Given the description of an element on the screen output the (x, y) to click on. 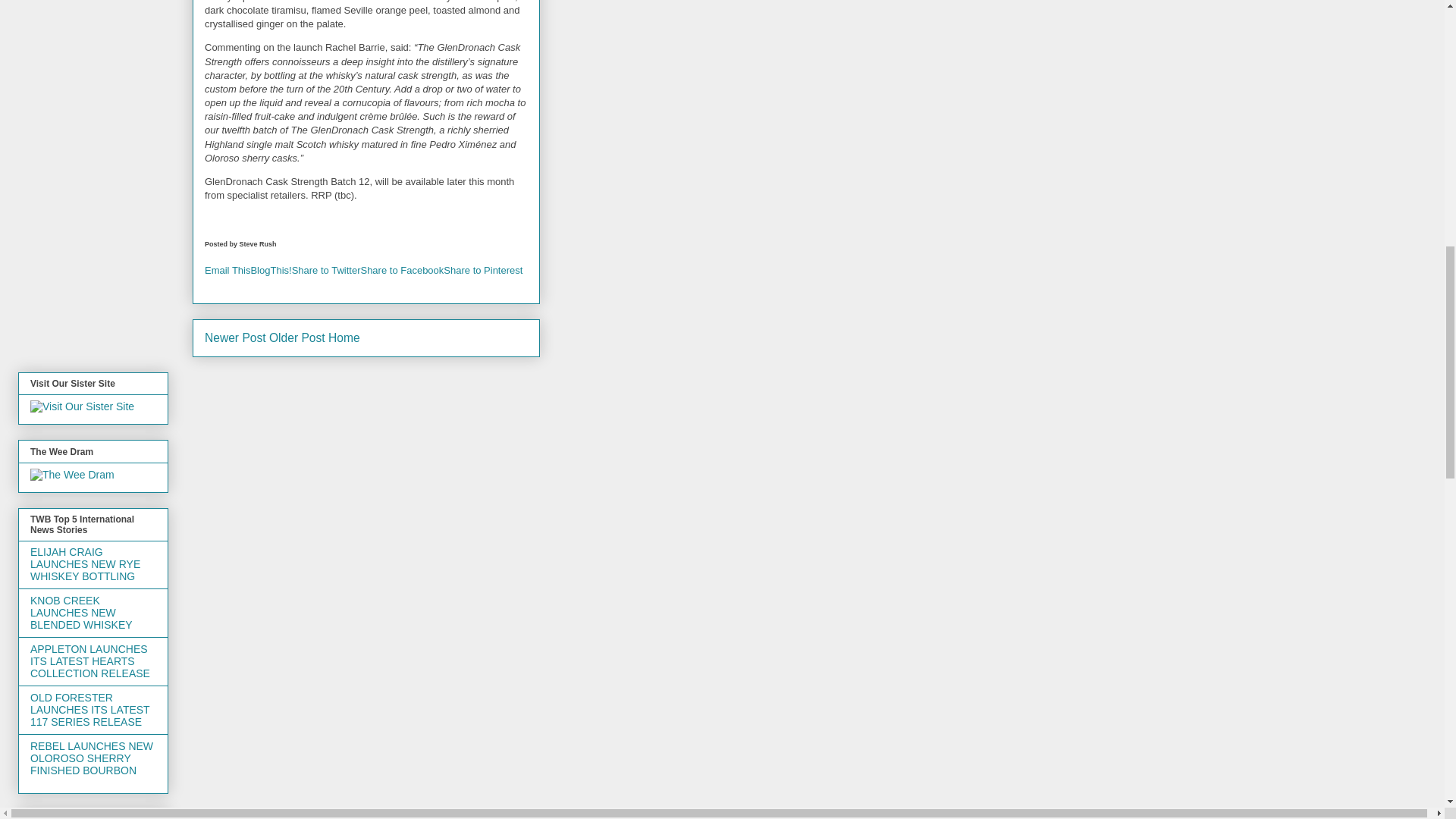
Email This (227, 270)
APPLETON LAUNCHES ITS LATEST HEARTS COLLECTION RELEASE (89, 660)
Older Post (296, 337)
Newer Post (235, 337)
Older Post (296, 337)
REBEL LAUNCHES NEW OLOROSO SHERRY FINISHED BOURBON (91, 758)
Share to Twitter (326, 270)
BlogThis! (270, 270)
Share to Twitter (326, 270)
ELIJAH CRAIG LAUNCHES NEW RYE WHISKEY BOTTLING (84, 564)
BlogThis! (270, 270)
Share to Facebook (401, 270)
Share to Facebook (401, 270)
Email This (227, 270)
Home (344, 337)
